Given the description of an element on the screen output the (x, y) to click on. 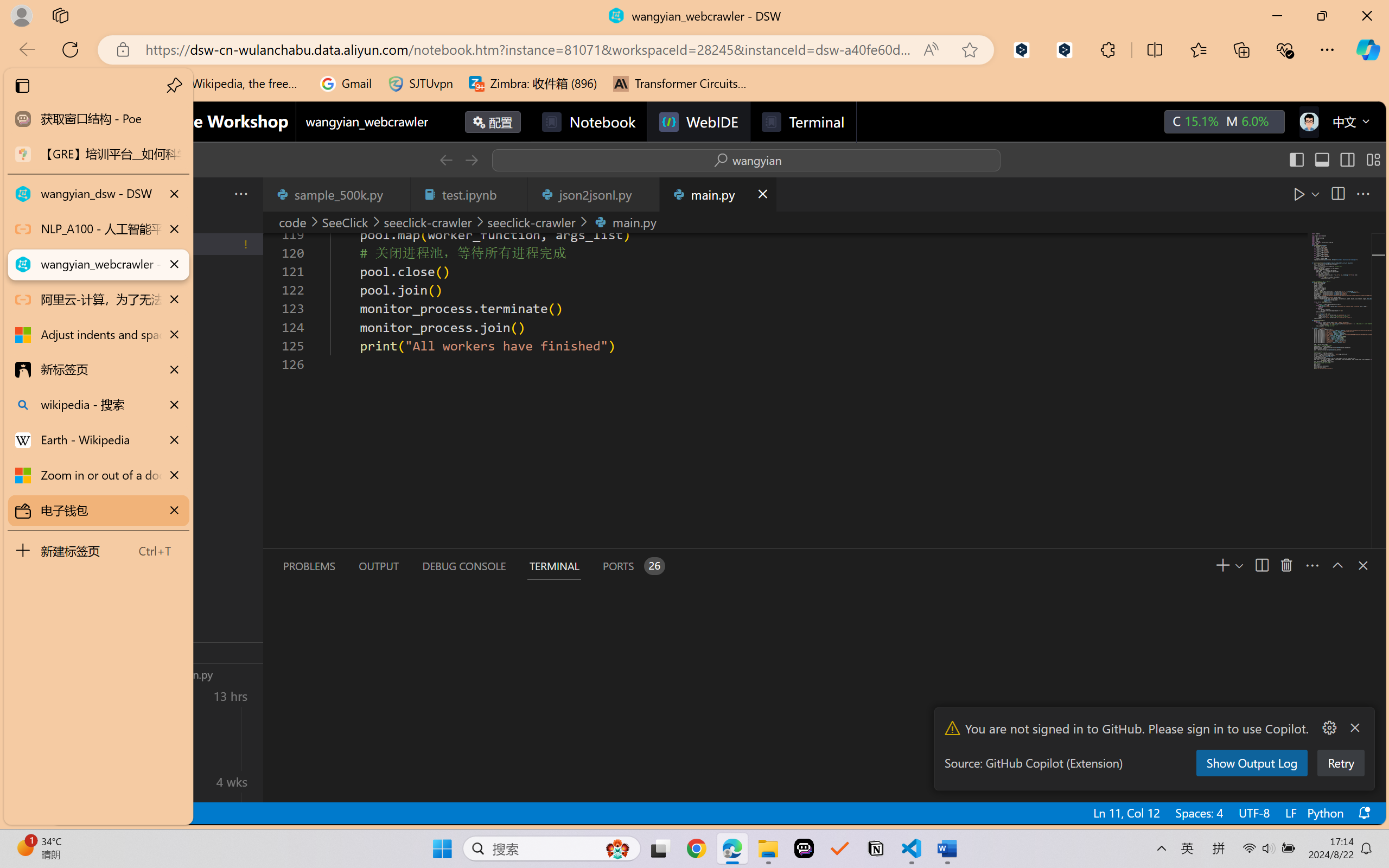
Maximize Panel Size (1337, 565)
Wikipedia, the free encyclopedia (236, 83)
WebIDE (698, 121)
Explorer Section: wangyian (179, 221)
Search (Ctrl+Shift+F) (73, 281)
Run or Debug... (1314, 193)
Notifications (1363, 812)
Python (1323, 812)
